Given the description of an element on the screen output the (x, y) to click on. 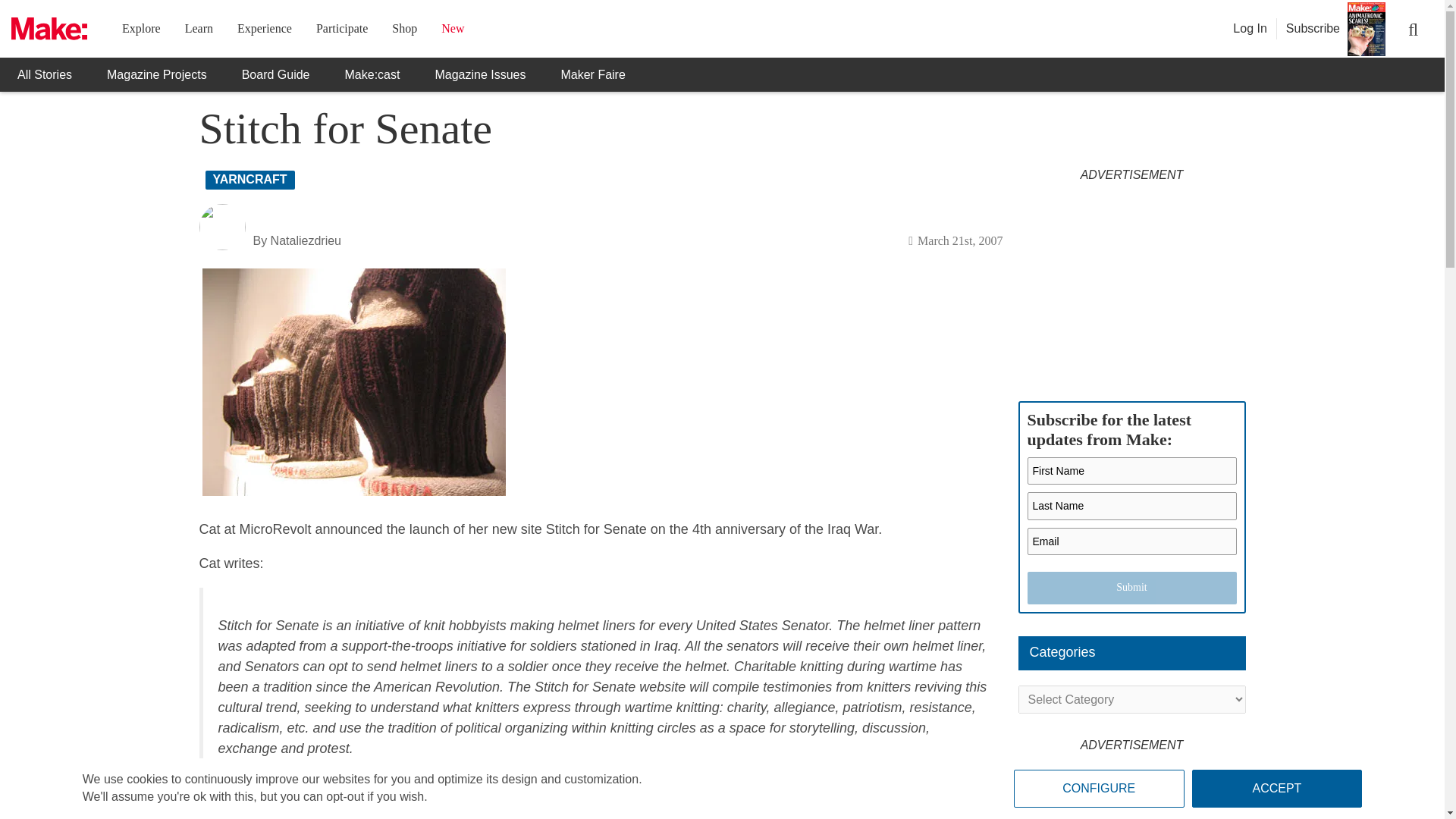
Make:cast (372, 74)
Board Guide (275, 74)
Log In (1249, 28)
Maker Faire (592, 74)
All Stories (44, 74)
3rd party ad content (1130, 283)
Experience (264, 28)
Explore (141, 28)
Magazine Projects (156, 74)
Magazine Issues (479, 74)
Participate (341, 28)
Learn (198, 28)
